Given the description of an element on the screen output the (x, y) to click on. 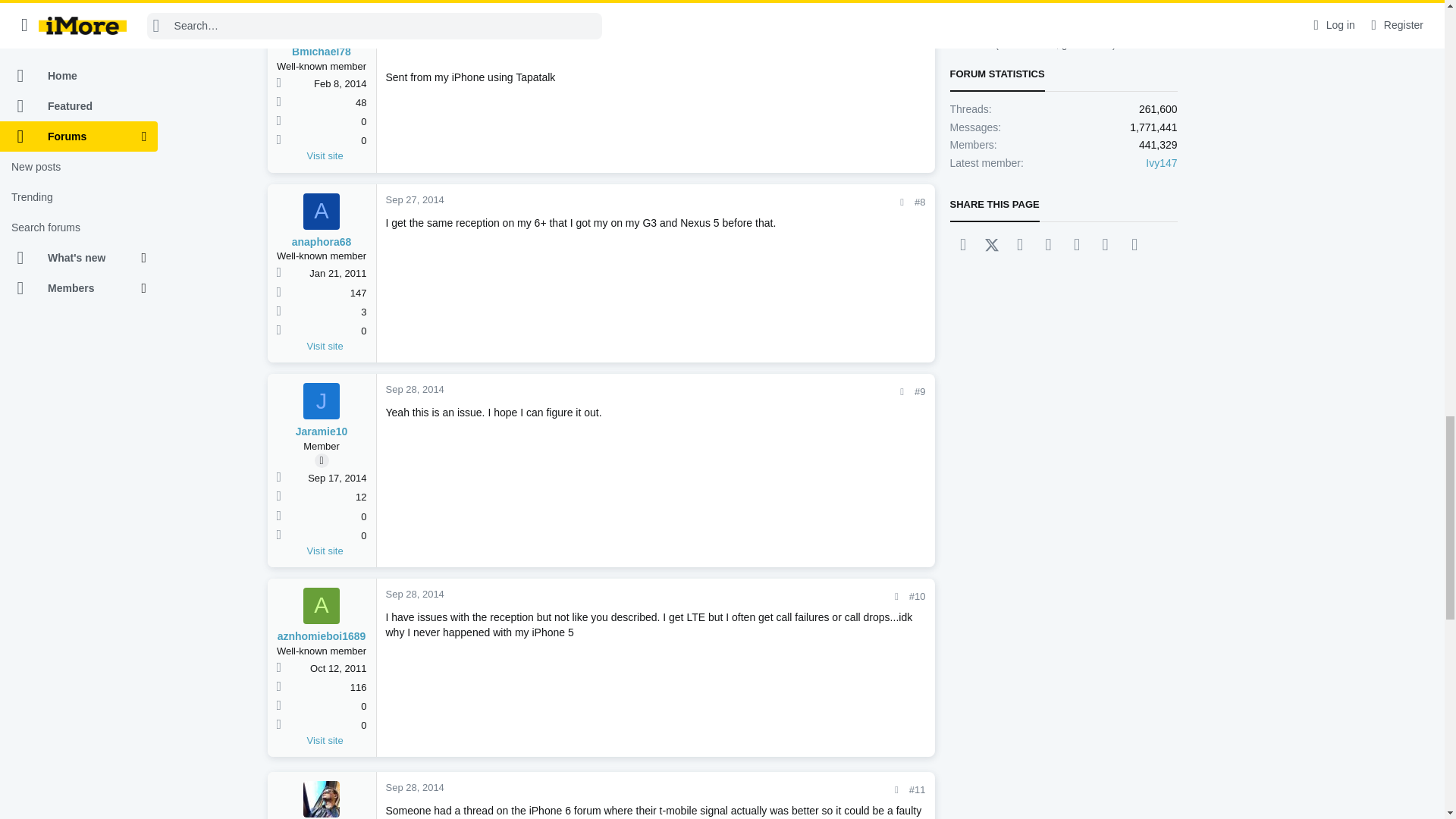
Sep 28, 2014 at 6:18 AM (414, 593)
Sep 27, 2014 at 11:17 PM (414, 199)
Sep 28, 2014 at 9:24 AM (414, 787)
Sep 28, 2014 at 1:13 AM (414, 389)
Sep 27, 2014 at 10:24 PM (414, 9)
